Given the description of an element on the screen output the (x, y) to click on. 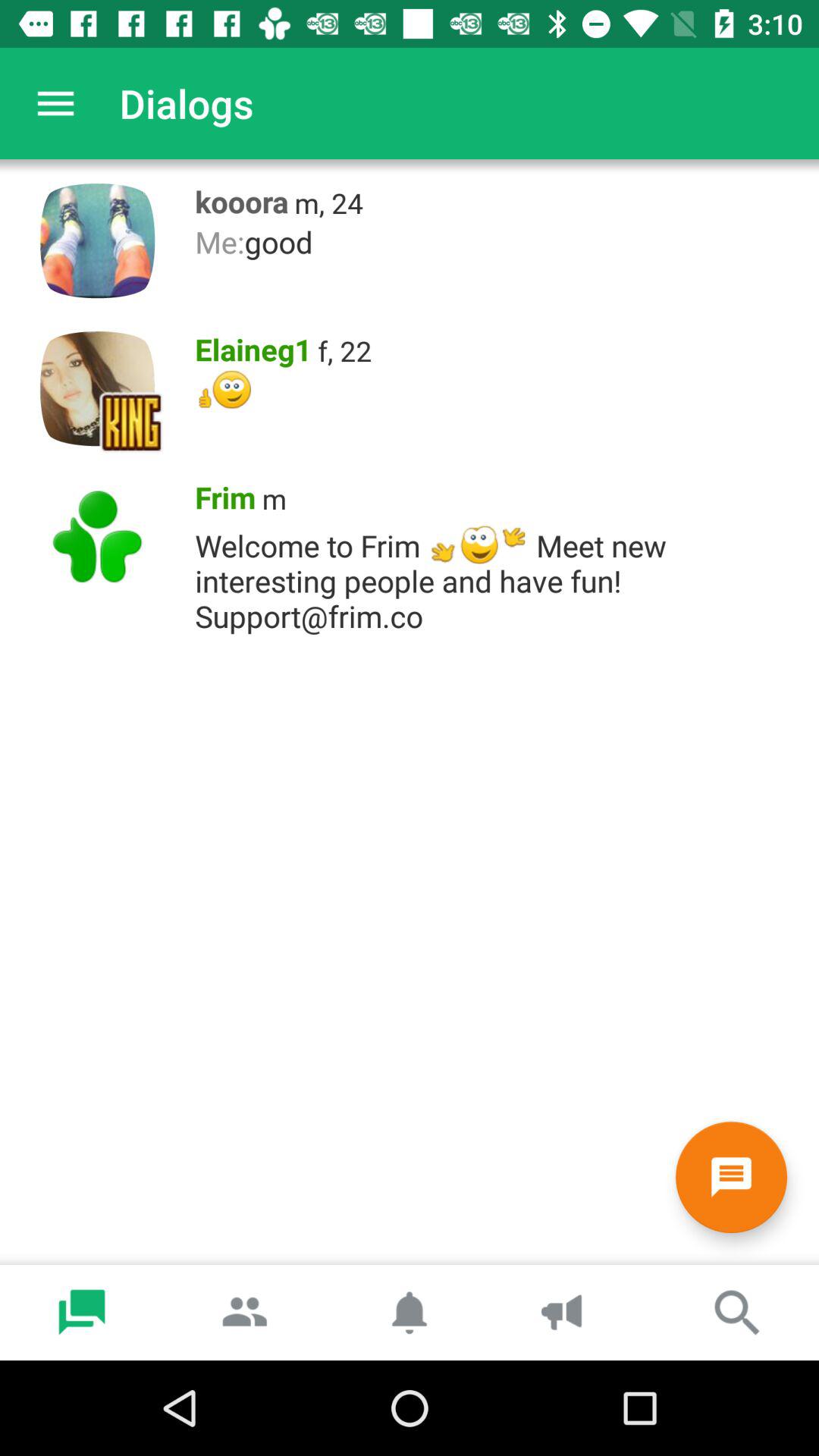
press the item to the left of the m, 24 icon (236, 198)
